Given the description of an element on the screen output the (x, y) to click on. 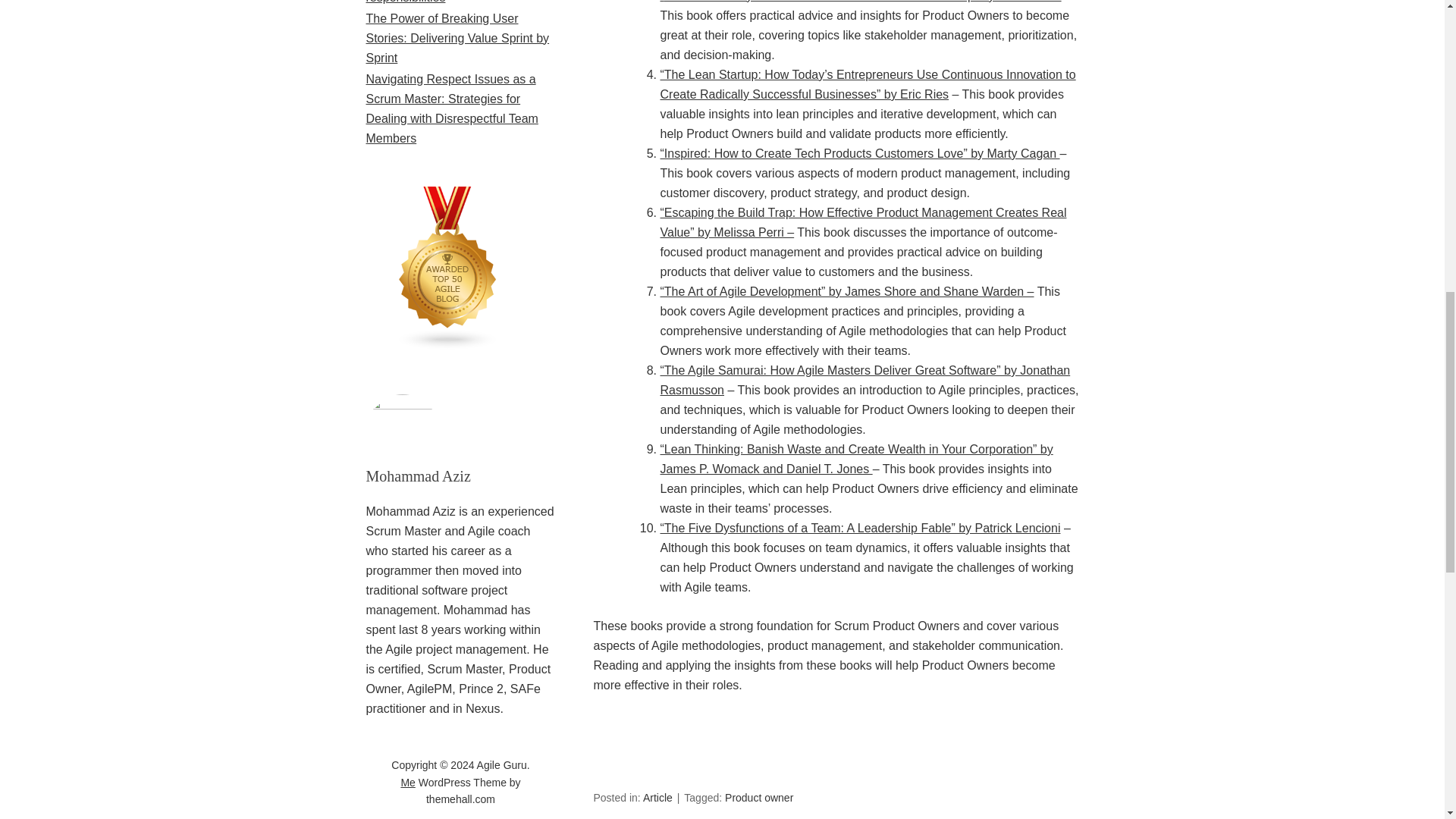
Me WordPress Theme (407, 782)
Article (657, 797)
Me (407, 782)
Scrum master role and responsibilities (426, 2)
Product owner (759, 797)
